Given the description of an element on the screen output the (x, y) to click on. 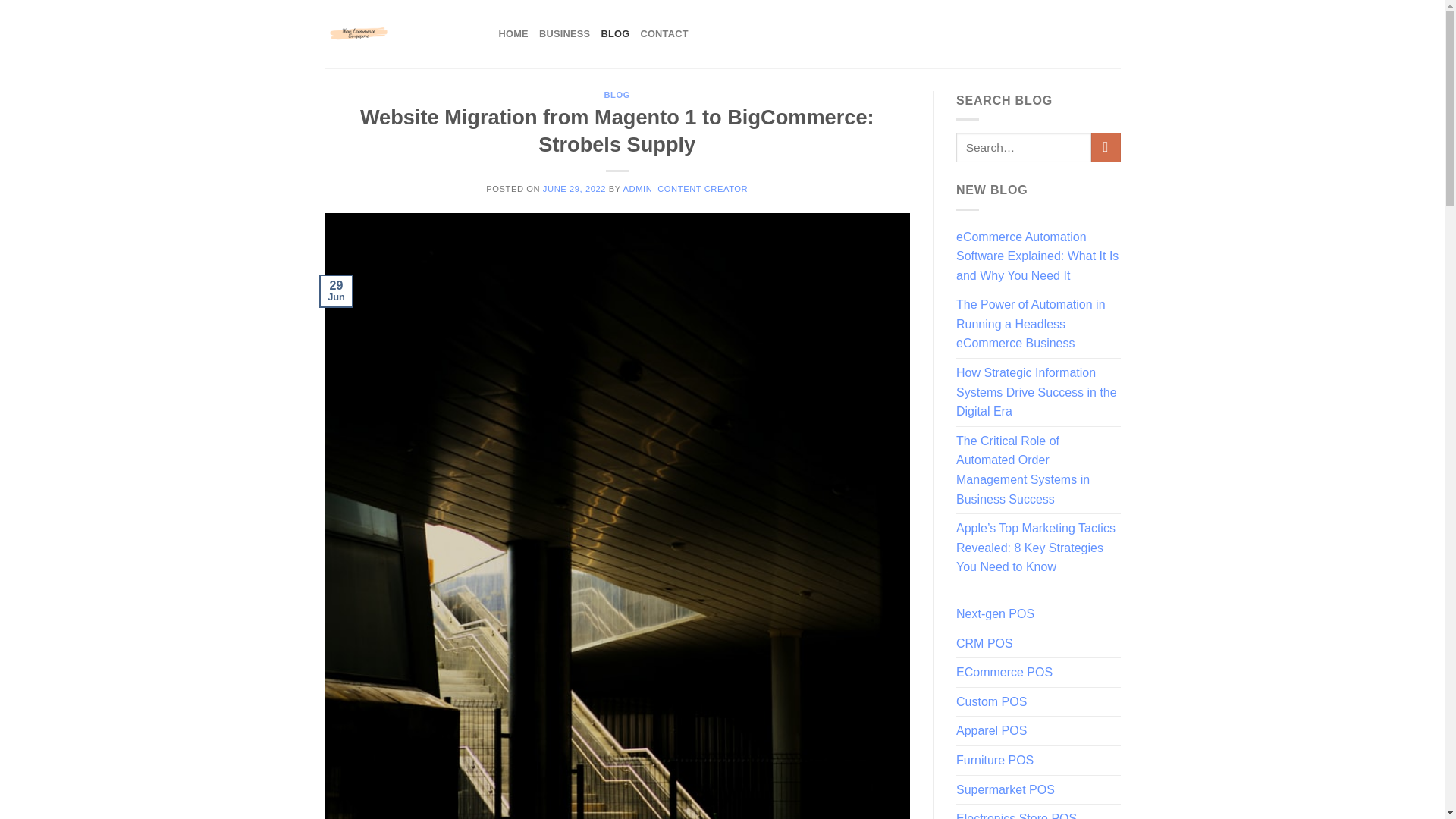
CONTACT (663, 33)
BLOG (613, 33)
JUNE 29, 2022 (574, 188)
HOME (513, 33)
BLOG (617, 94)
BUSINESS (563, 33)
New Ecommerce Singapore - E-commerce news site (400, 33)
